Given the description of an element on the screen output the (x, y) to click on. 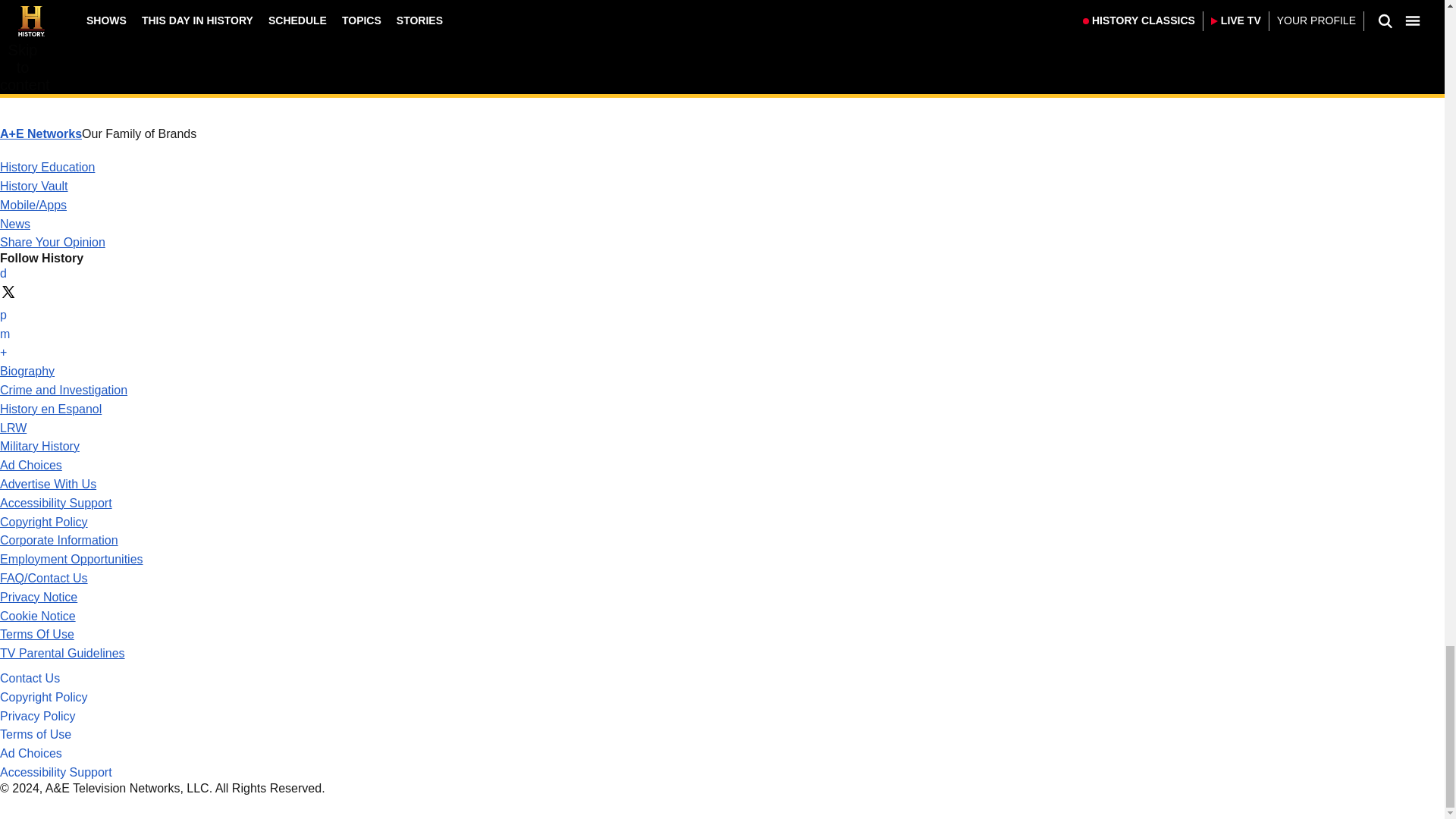
Visit Cookie Notice (37, 615)
Visit Ad Choices (31, 464)
Visit Copyright Policy (43, 521)
Visit Advertise With Us (48, 483)
Visit History Education (47, 166)
Visit Corporate Information (58, 540)
Visit Biography (27, 370)
Visit Employment Opportunities (71, 558)
Visit History Vault (34, 185)
Visit LRW (13, 427)
Visit Privacy Notice (38, 596)
Visit Share Your Opinion (52, 241)
Visit Crime and Investigation (64, 390)
Visit Military History (40, 445)
Visit News (15, 223)
